Given the description of an element on the screen output the (x, y) to click on. 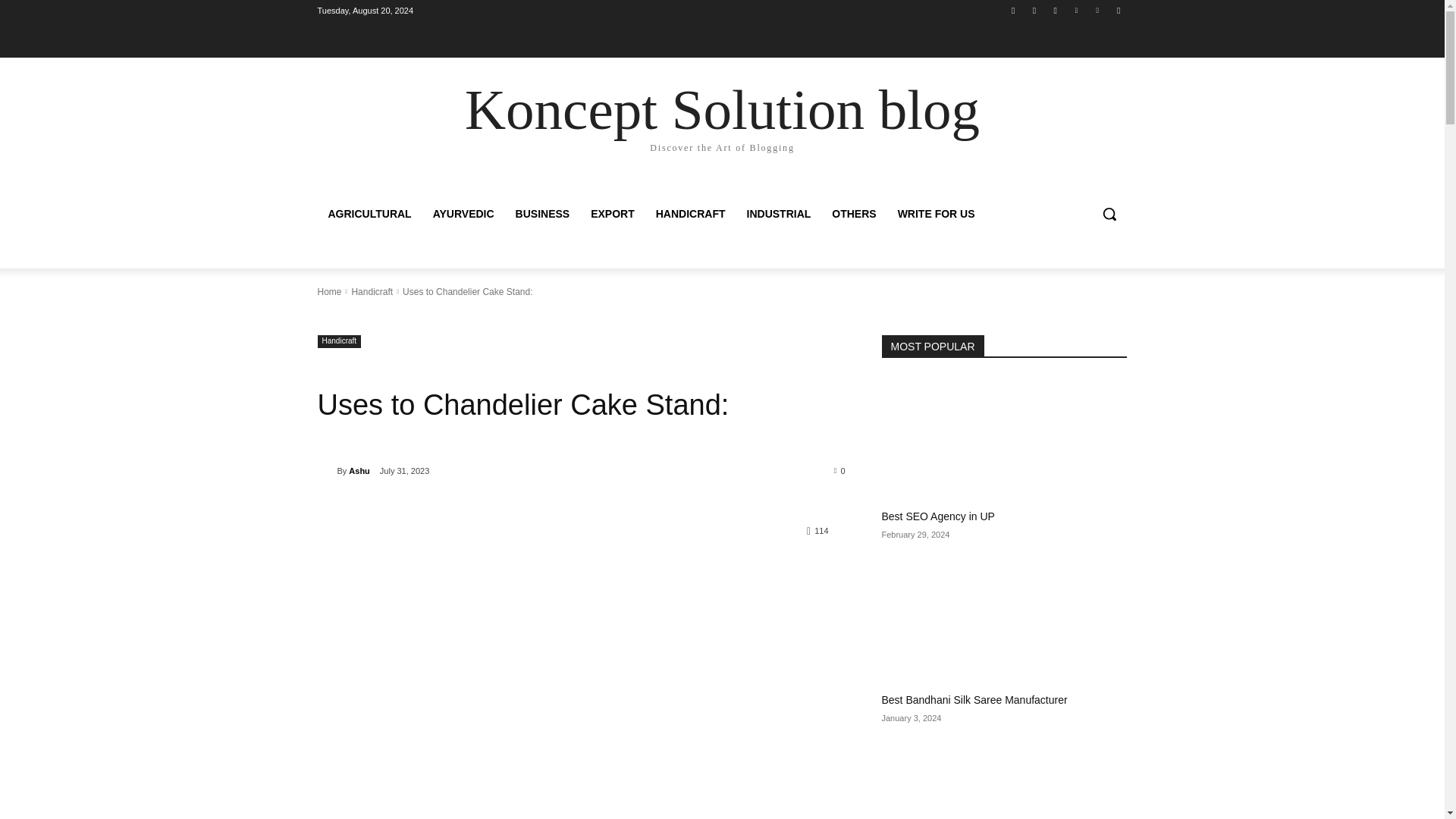
Twitter (1055, 9)
Home (328, 291)
Ashu (326, 470)
BUSINESS (542, 213)
WRITE FOR US (935, 213)
Facebook (1013, 9)
Handicraft (339, 341)
0 (839, 470)
Linkedin (1075, 9)
INDUSTRIAL (779, 213)
